Given the description of an element on the screen output the (x, y) to click on. 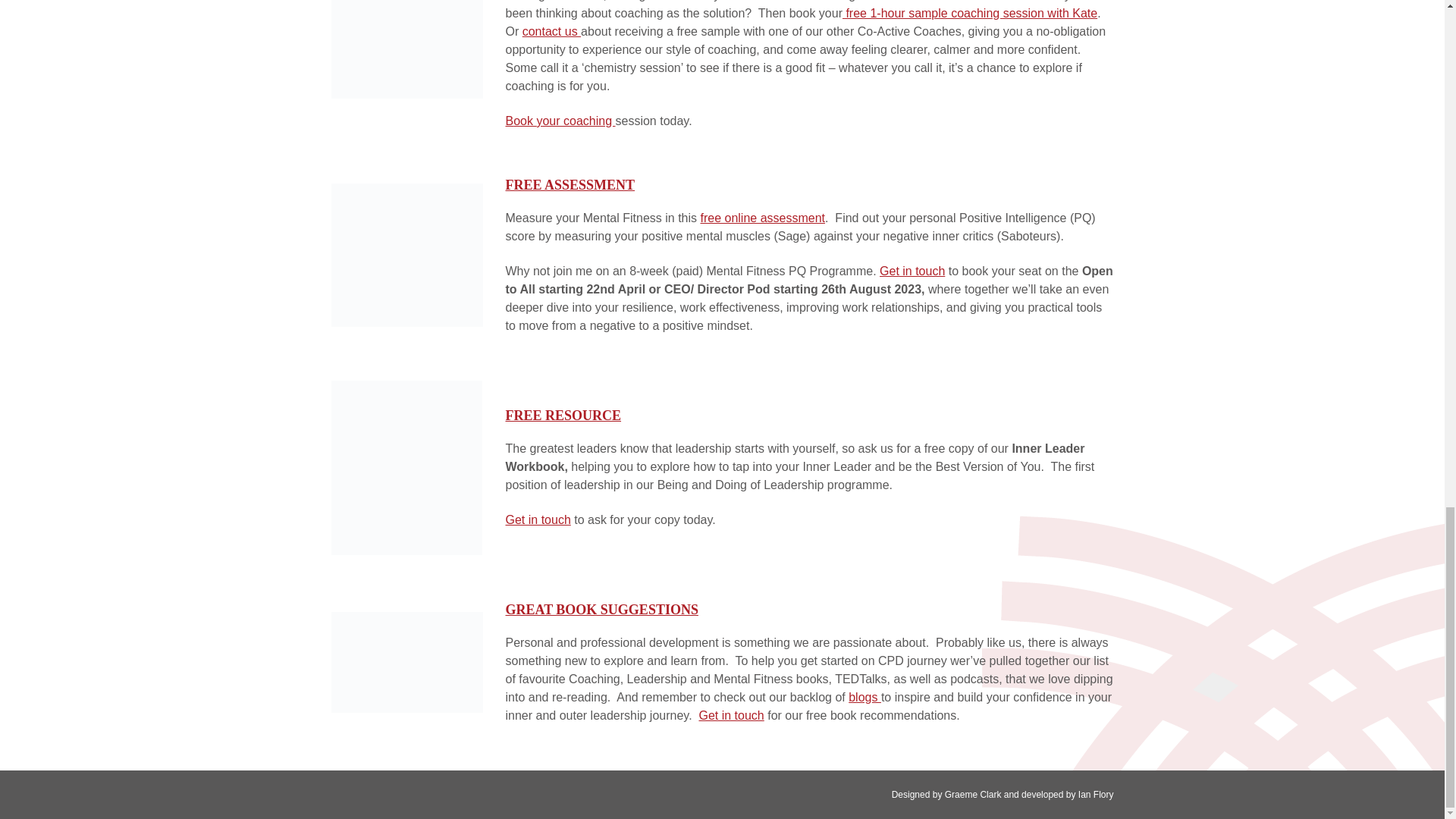
contact us  (551, 31)
ook  (524, 120)
your coaching  (574, 120)
Read more about Free Assessment (405, 253)
 free 1-hour sample coaching session with Kate (970, 12)
blogs  (864, 697)
Get in touch (911, 270)
GREAT BOOK SUGGESTIONS (601, 609)
Read more about Great book suggestions (405, 660)
Get in touch (537, 519)
